Given the description of an element on the screen output the (x, y) to click on. 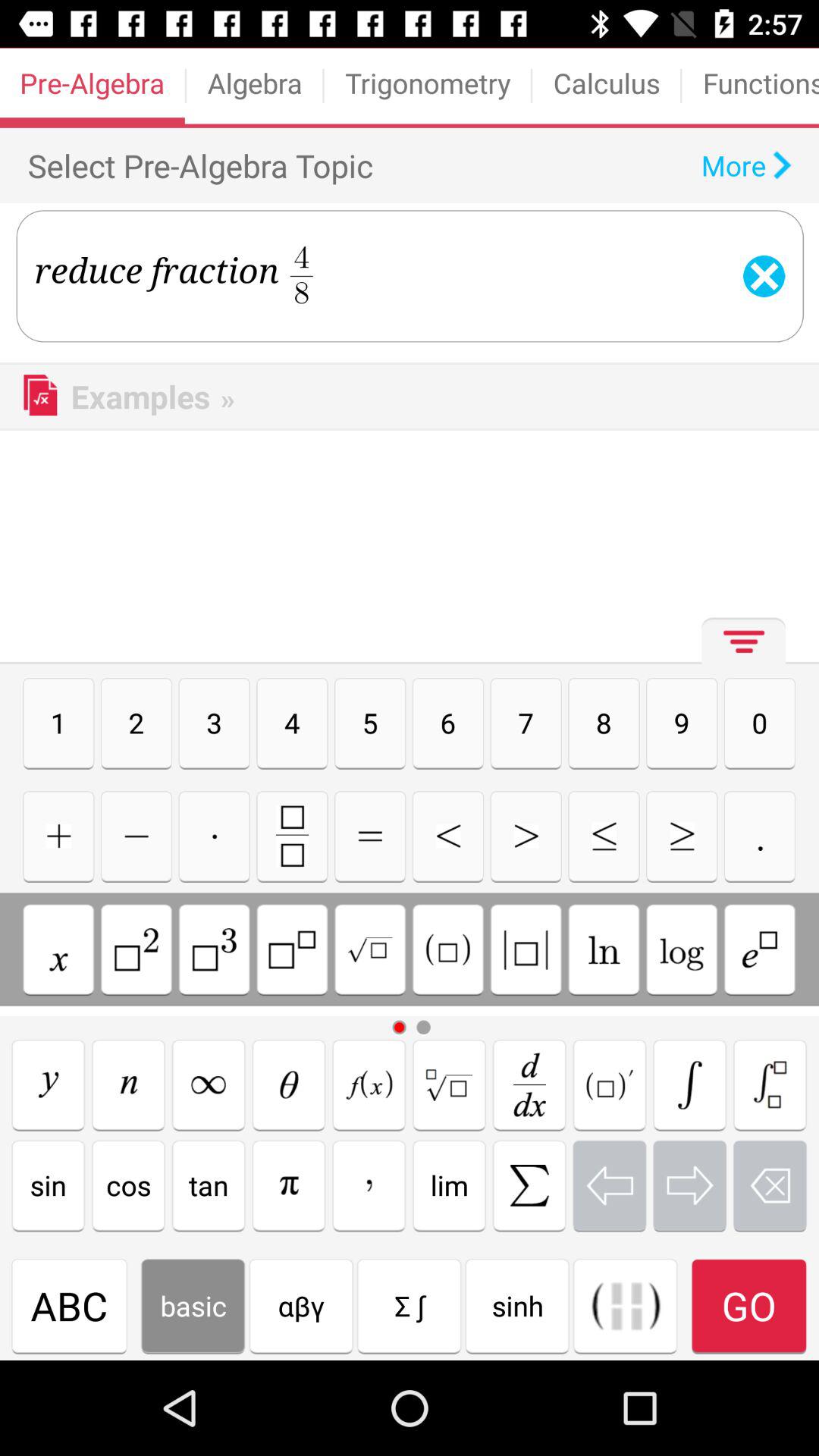
segma sign (689, 1084)
